Given the description of an element on the screen output the (x, y) to click on. 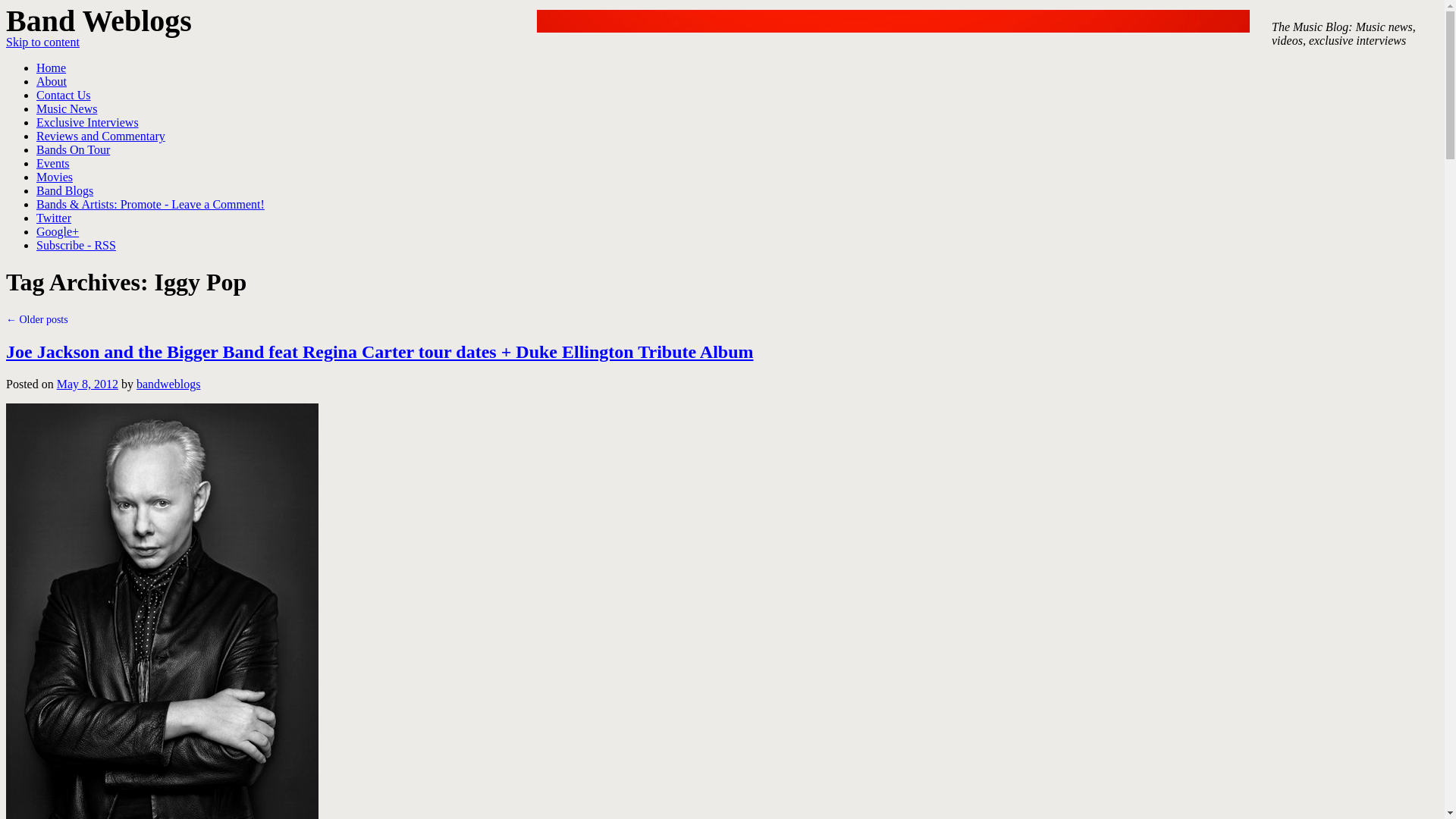
Skip to content (42, 42)
Band Blogs (64, 190)
Twitter (53, 217)
Bands On Tour (73, 149)
Exclusive Interviews (87, 122)
Band Weblogs (98, 20)
Skip to content (42, 42)
Contact Us (63, 94)
Movies (54, 176)
View all posts by bandweblogs (168, 383)
bandweblogs (168, 383)
Events (52, 163)
Music News (66, 108)
About (51, 81)
Subscribe - RSS (76, 245)
